Given the description of an element on the screen output the (x, y) to click on. 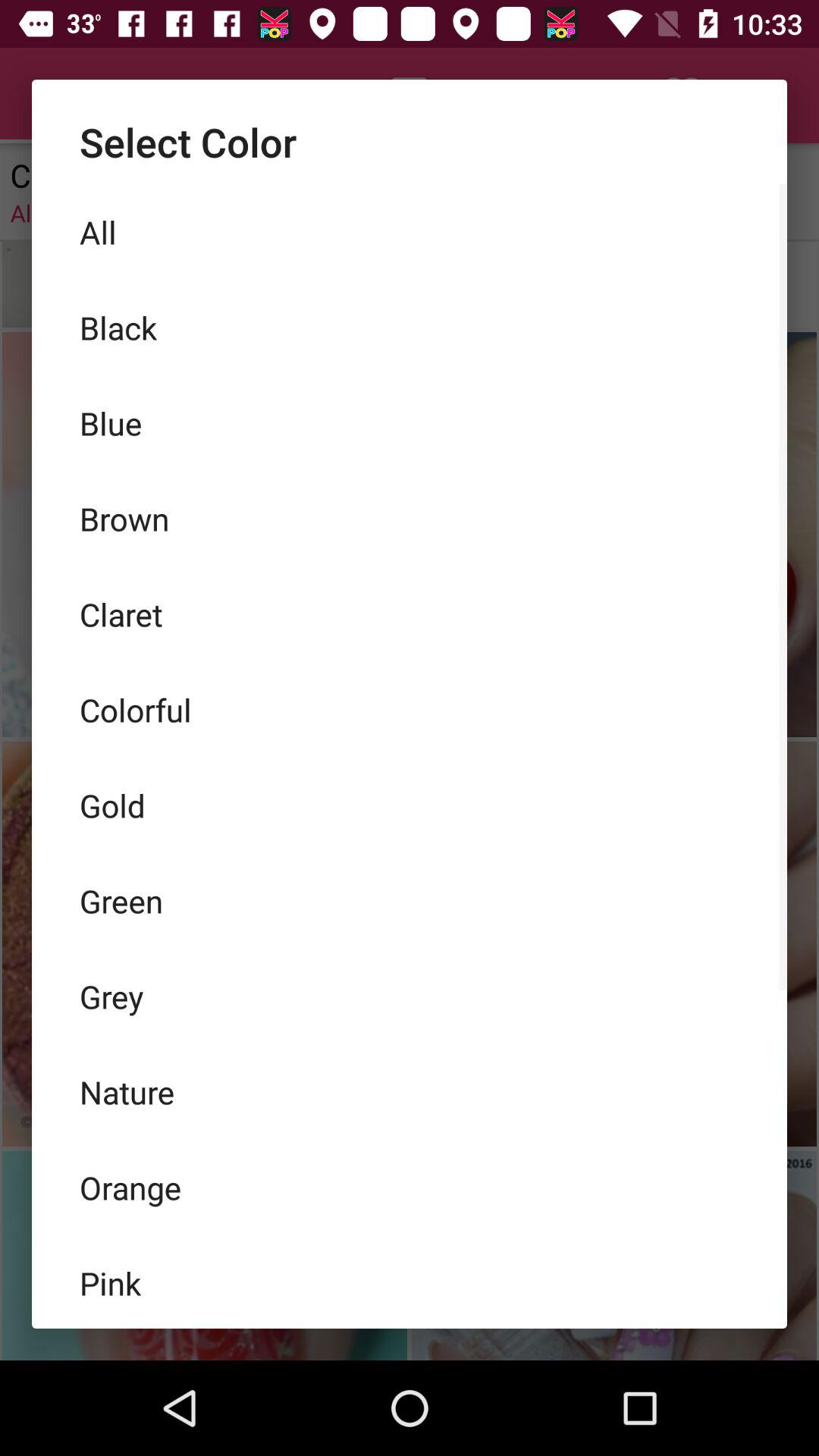
jump until the claret (409, 614)
